Given the description of an element on the screen output the (x, y) to click on. 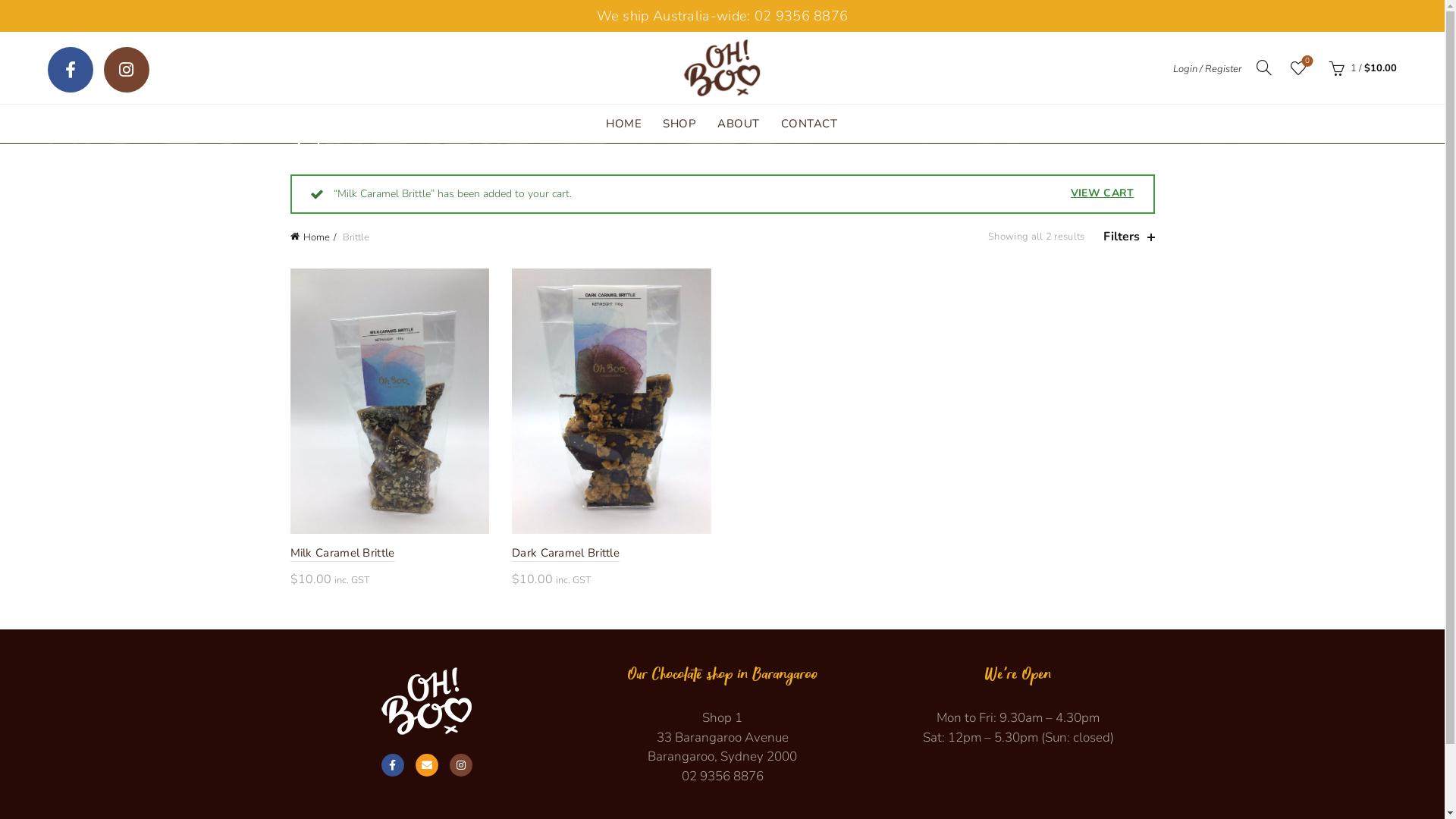
Instagram Element type: text (126, 69)
Facebook Element type: text (70, 69)
Email Element type: text (426, 764)
Wishlist
0 Element type: text (1297, 67)
Filters Element type: text (1128, 236)
Facebook Element type: text (391, 764)
SHOP Element type: text (679, 123)
1 / $10.00 Element type: text (1360, 67)
Instagram Element type: text (459, 764)
Milk Caramel Brittle Element type: text (341, 553)
Login / Register Element type: text (1207, 67)
HOME Element type: text (623, 123)
CONTACT Element type: text (808, 123)
ABOUT Element type: text (738, 123)
Back Element type: text (308, 144)
Home Element type: text (312, 237)
OhBoo Chocolates Element type: hover (425, 700)
Dark Caramel Brittle Element type: text (565, 553)
VIEW CART Element type: text (1102, 193)
Search Element type: text (30, 45)
